Given the description of an element on the screen output the (x, y) to click on. 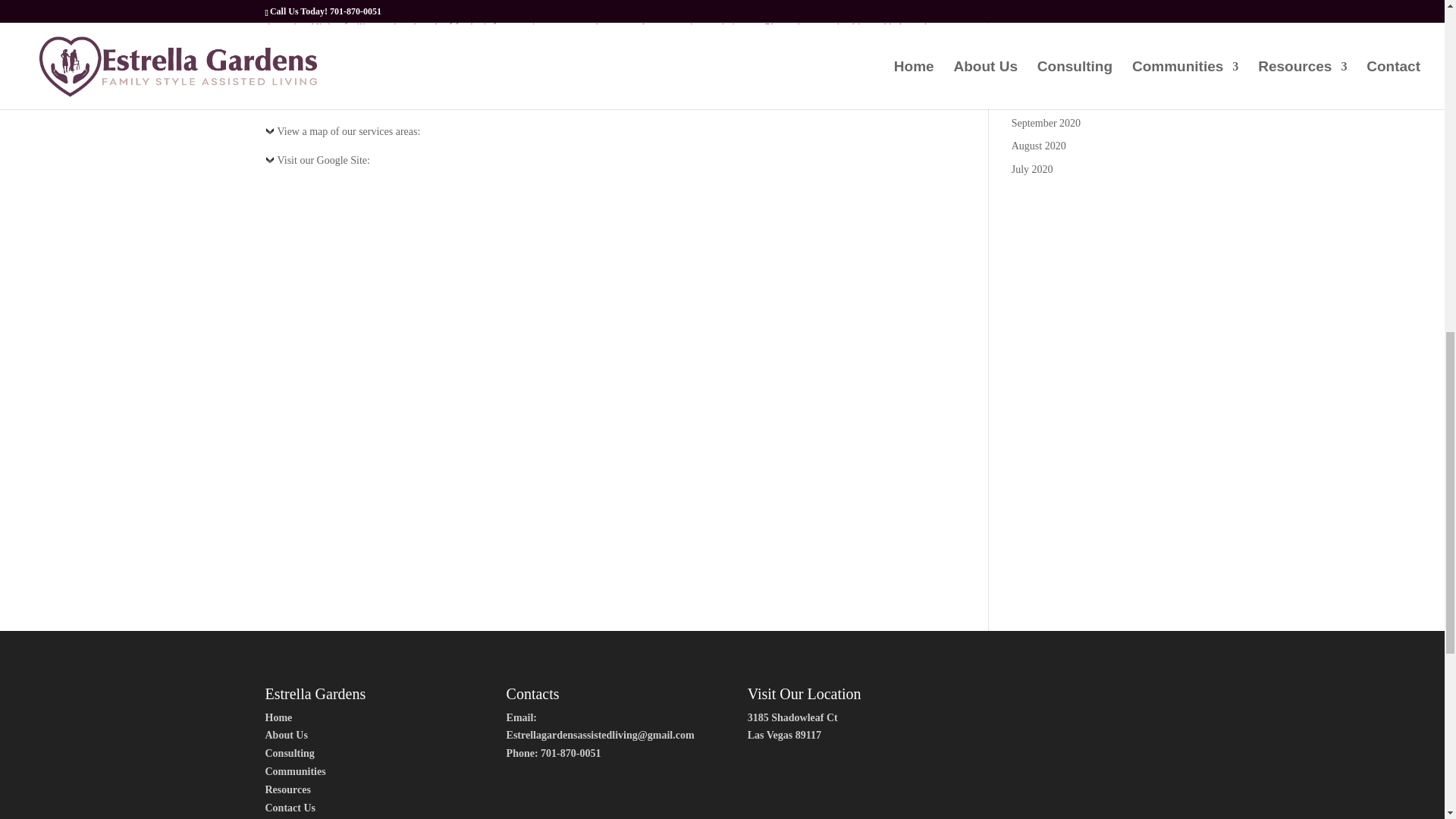
View a map of our services areas: (342, 135)
call 480-502-7959 (444, 73)
We service the following zip codes and surrounding areas. (394, 106)
Visit our Google Site: (316, 163)
